Given the description of an element on the screen output the (x, y) to click on. 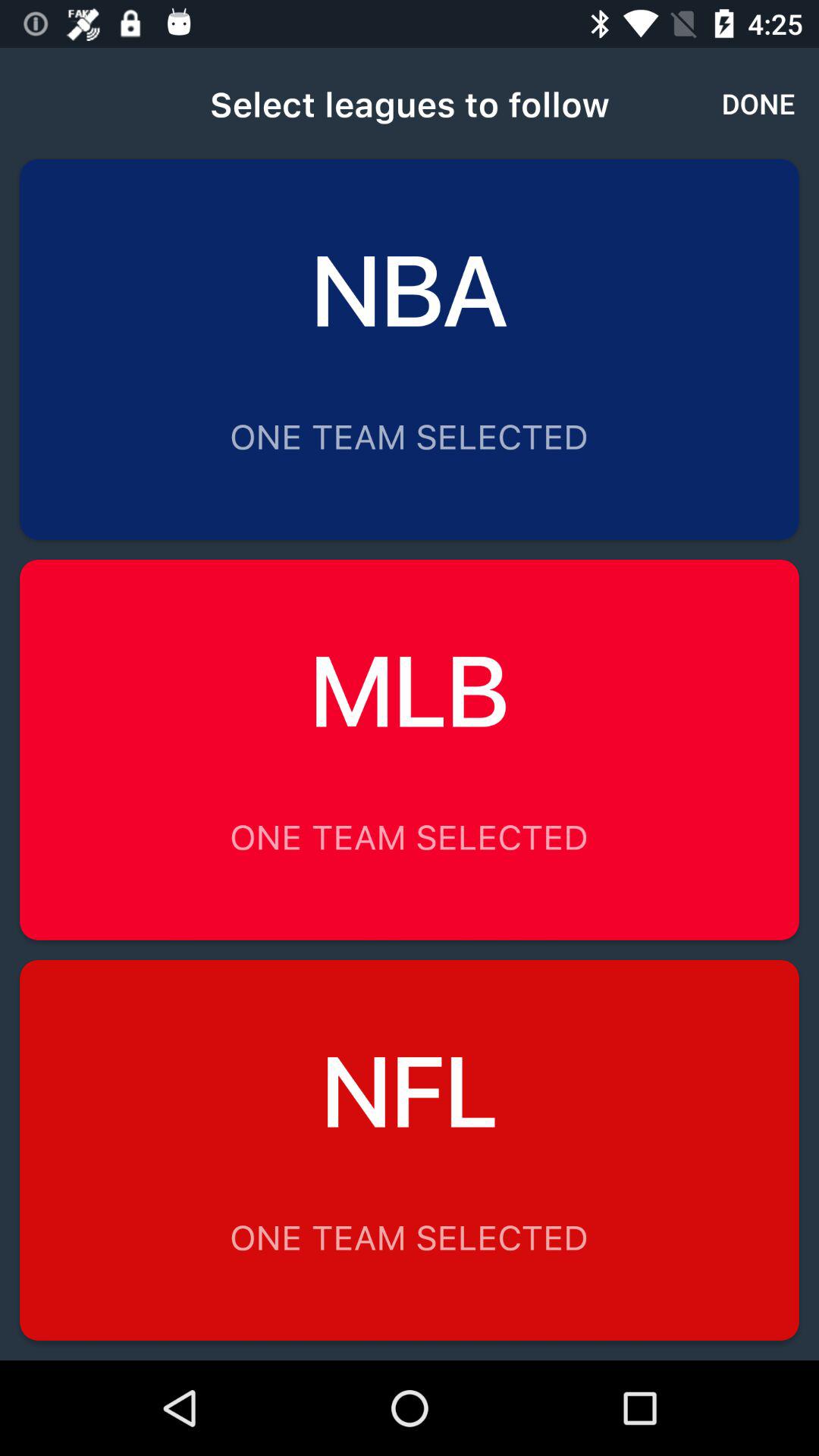
swipe to the done (758, 103)
